Given the description of an element on the screen output the (x, y) to click on. 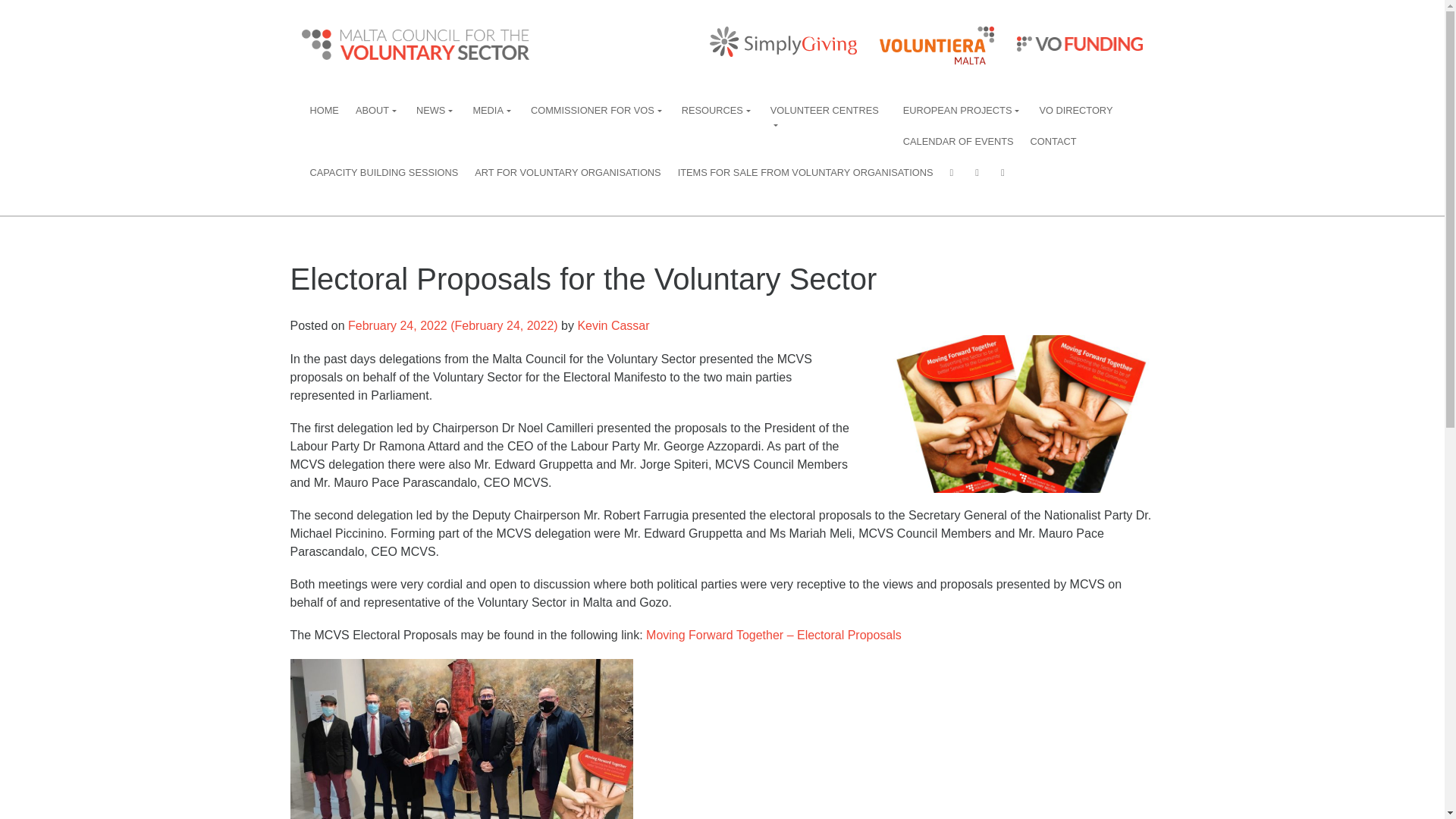
ABOUT (377, 110)
MaltaCVS (783, 41)
HOME (324, 110)
VO Funding Portal (1079, 43)
About (377, 110)
Home (324, 110)
NEWS (435, 110)
RESOURCES (716, 110)
MEDIA (493, 110)
MaltaCVS (415, 44)
